Given the description of an element on the screen output the (x, y) to click on. 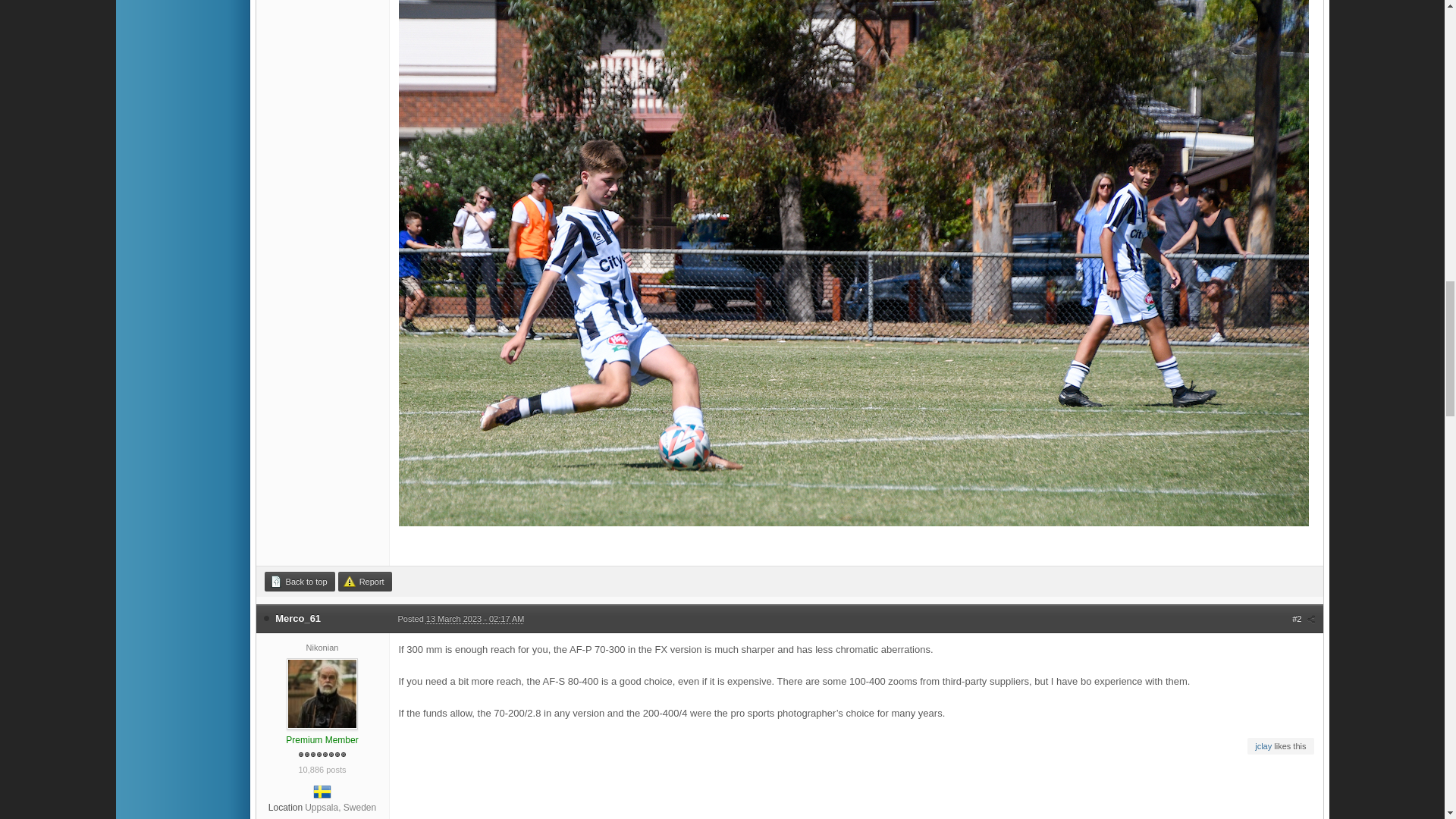
Back to top (298, 581)
Report (364, 581)
